Given the description of an element on the screen output the (x, y) to click on. 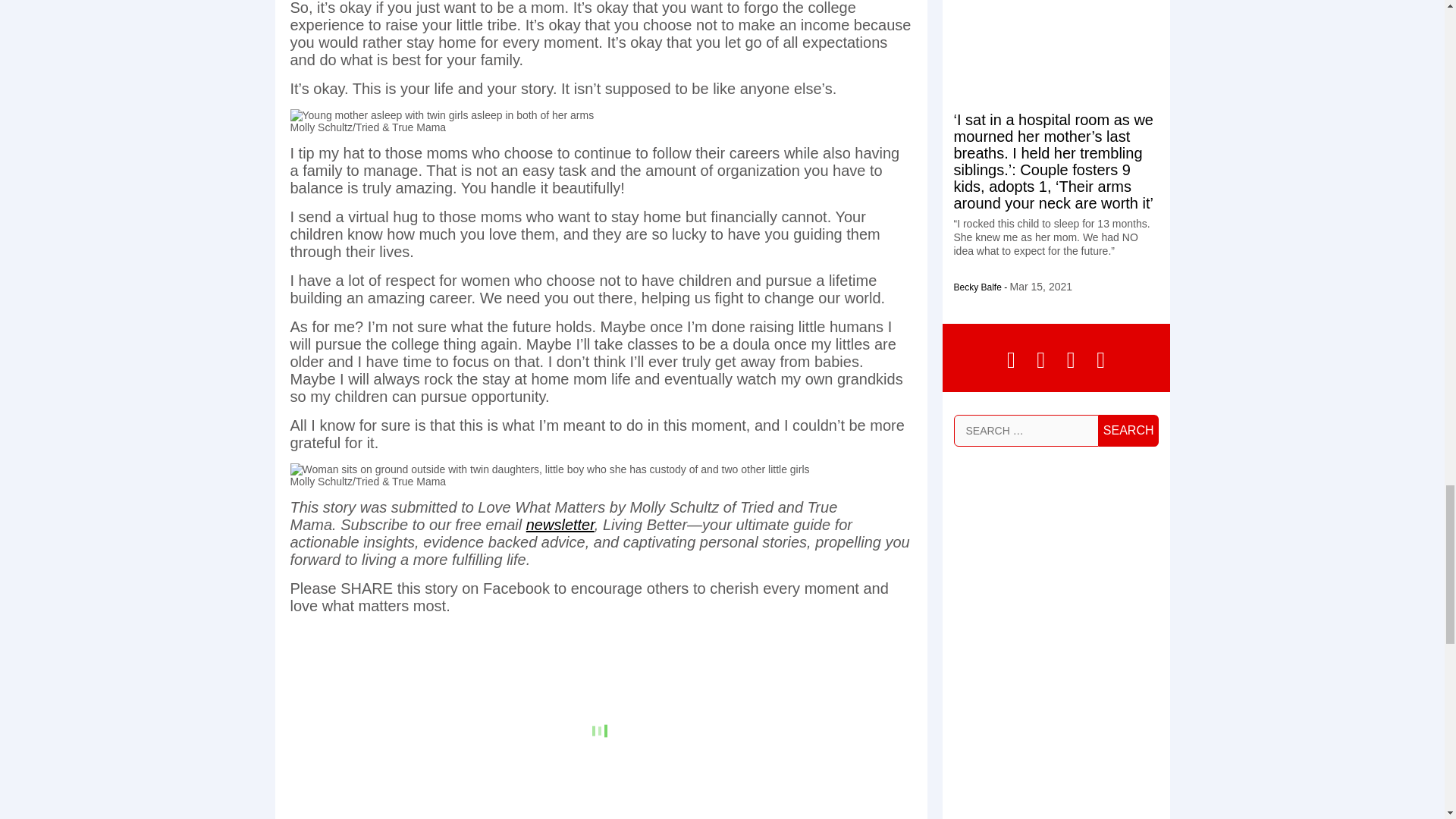
March 15, 2021 (1041, 286)
Search (1128, 430)
Search (1128, 430)
